Given the description of an element on the screen output the (x, y) to click on. 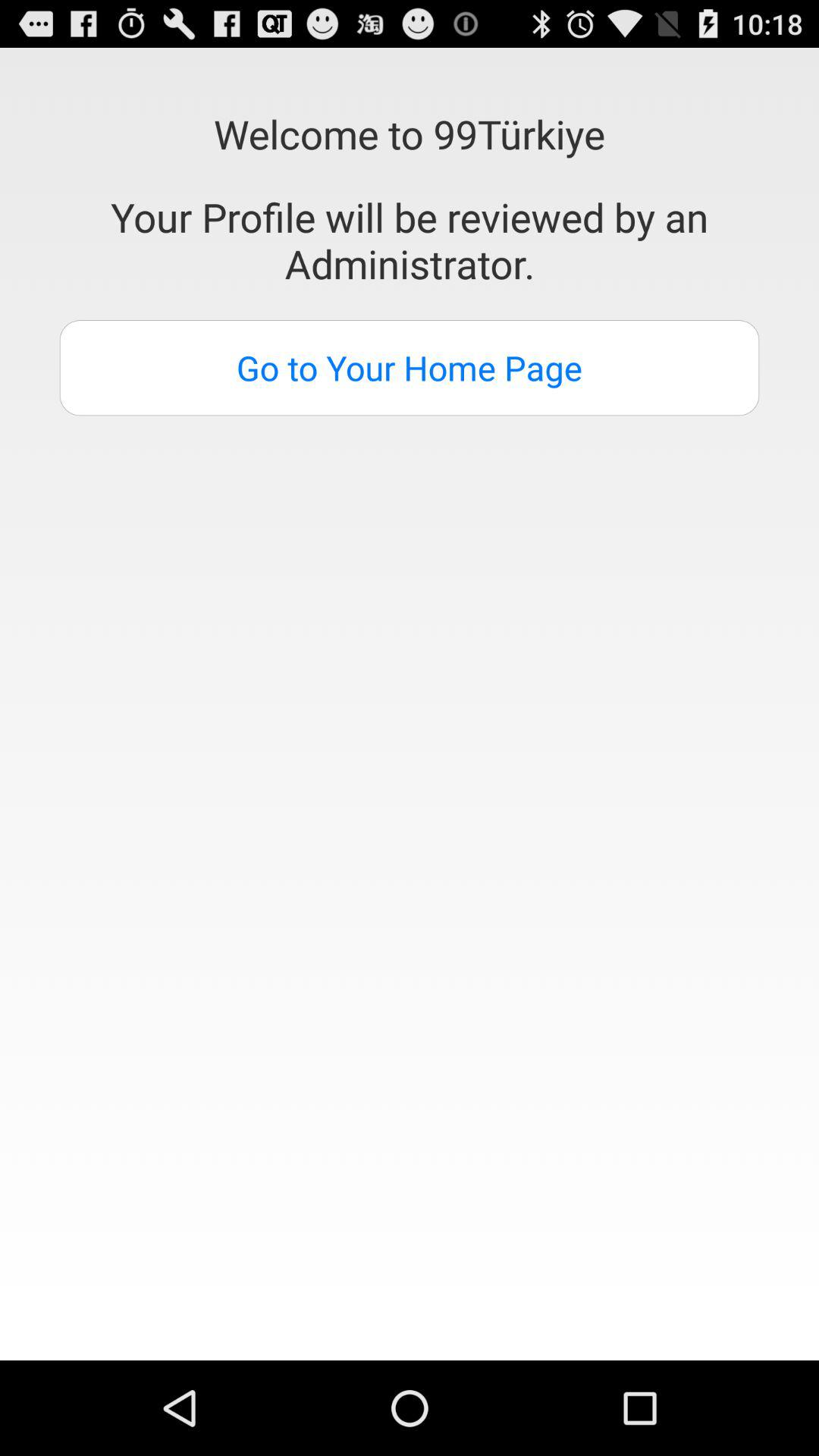
flip until go to your icon (409, 367)
